Given the description of an element on the screen output the (x, y) to click on. 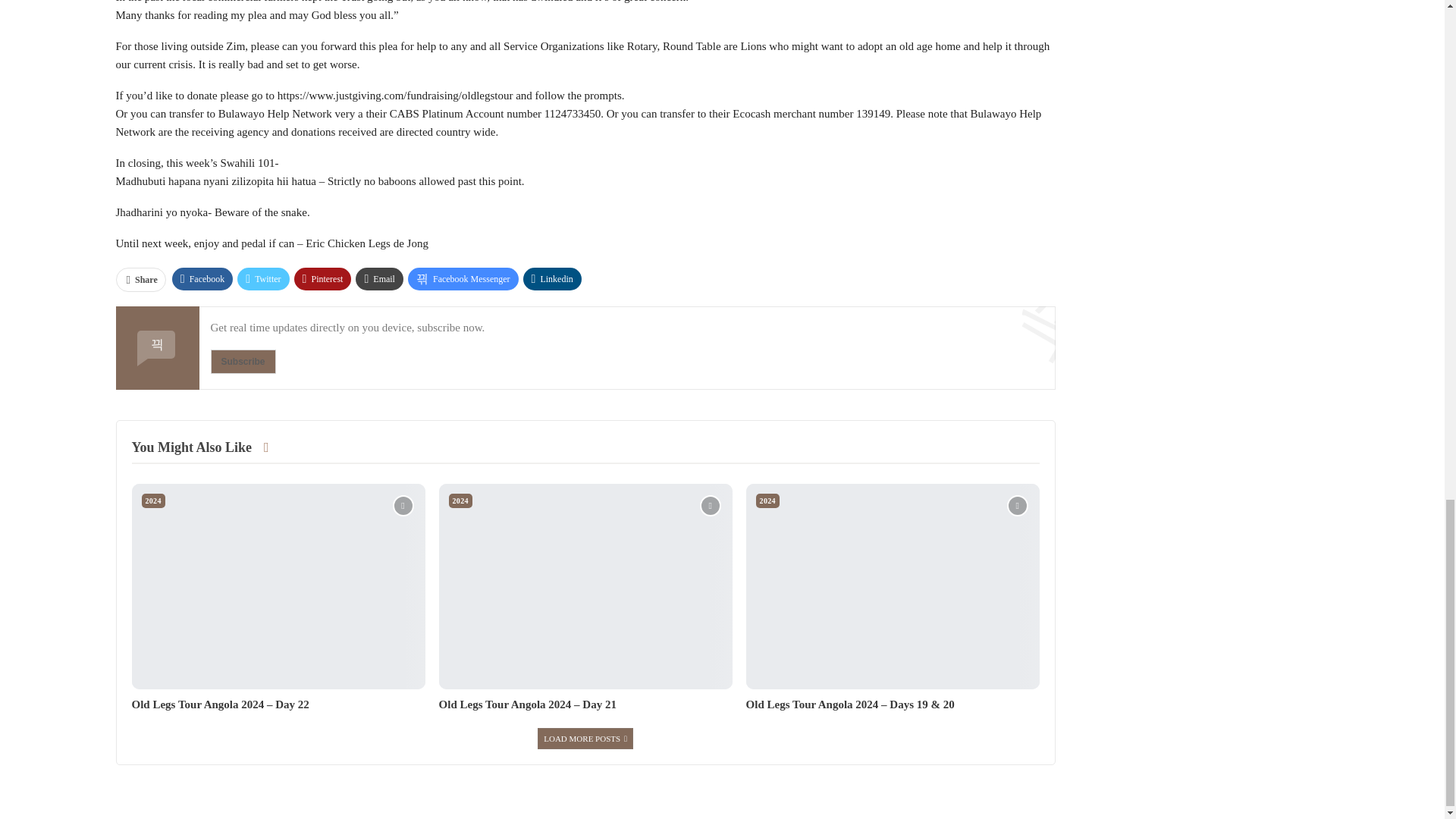
Pinterest (323, 278)
Load More Posts (585, 738)
Twitter (262, 278)
Facebook (201, 278)
Email (379, 278)
